Given the description of an element on the screen output the (x, y) to click on. 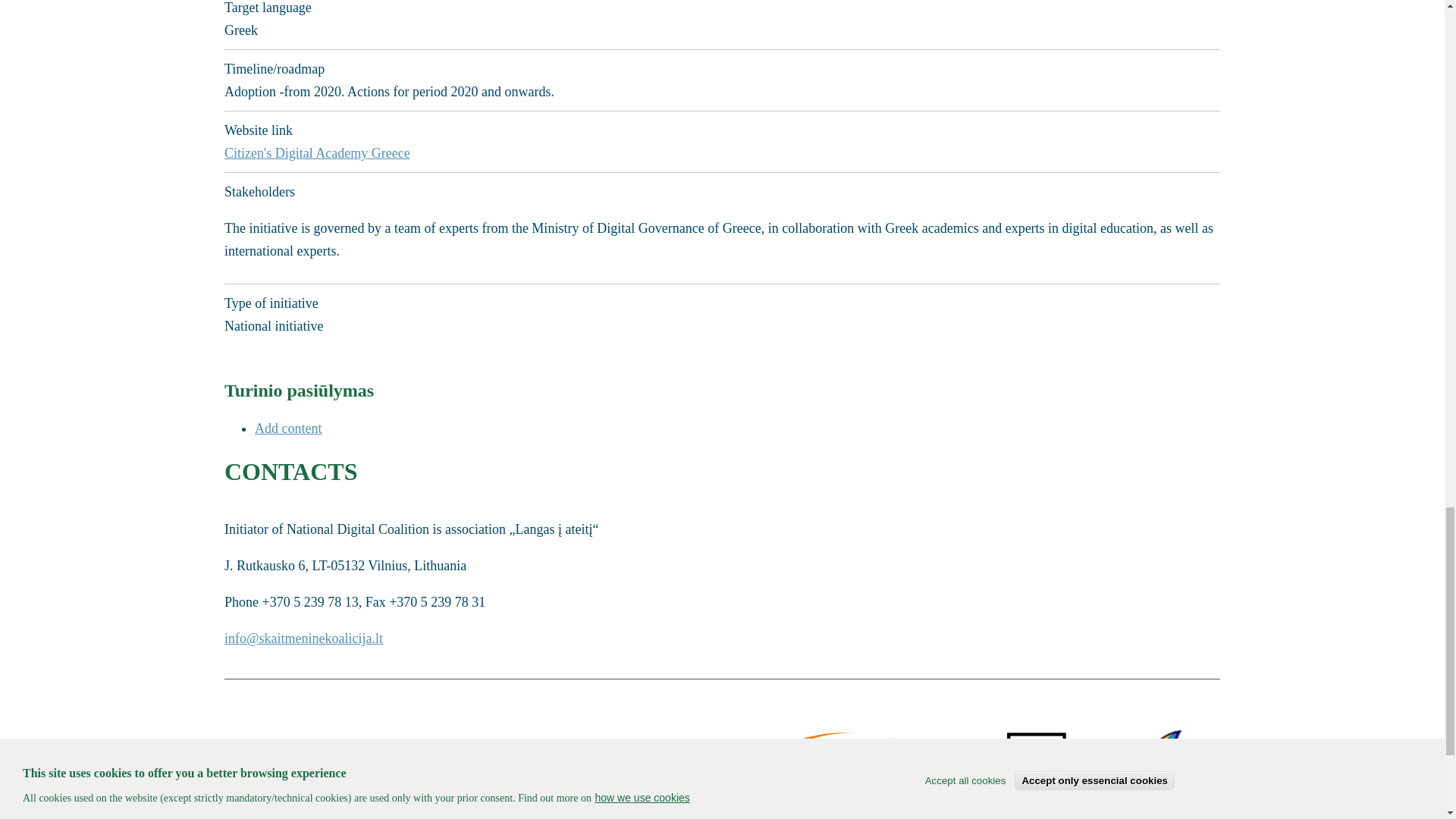
Add content (287, 427)
Citizen's Digital Academy Greece (320, 152)
